Given the description of an element on the screen output the (x, y) to click on. 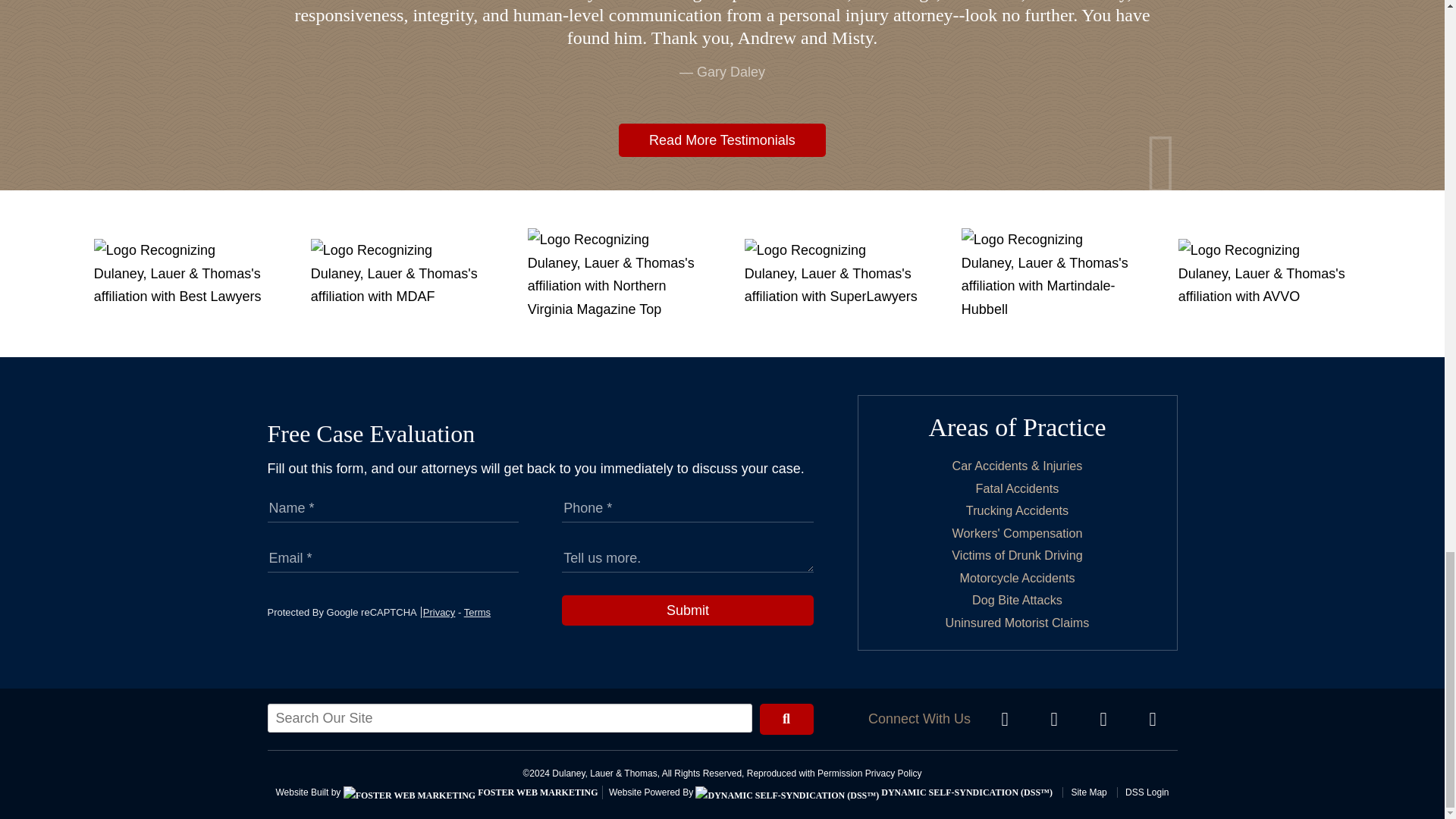
Search (786, 718)
